Given the description of an element on the screen output the (x, y) to click on. 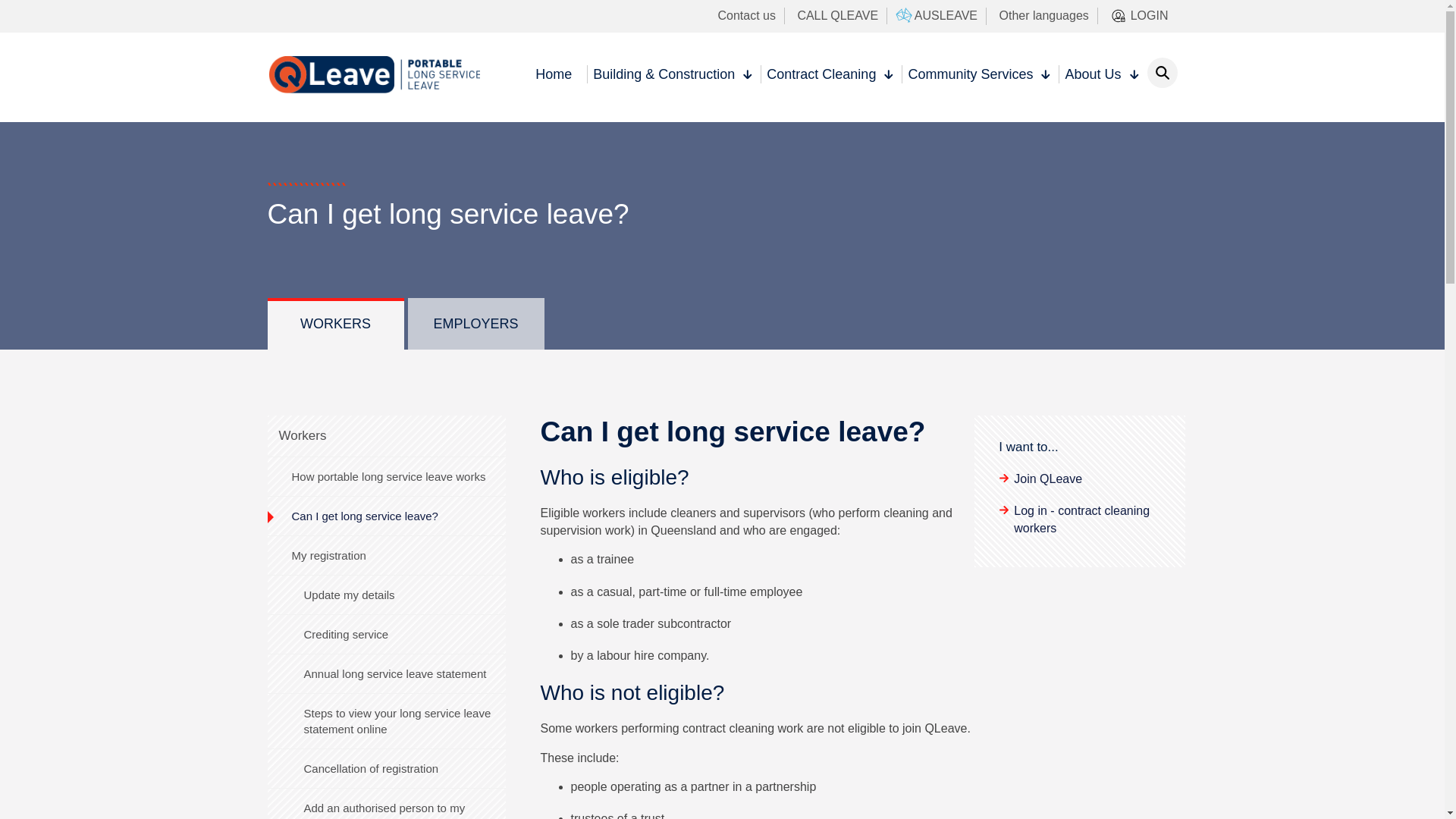
Contact us (745, 15)
AUSLEAVE (939, 16)
Toggle menu (741, 79)
CALL QLEAVE (836, 15)
Home (553, 89)
Other languages (1043, 15)
